Given the description of an element on the screen output the (x, y) to click on. 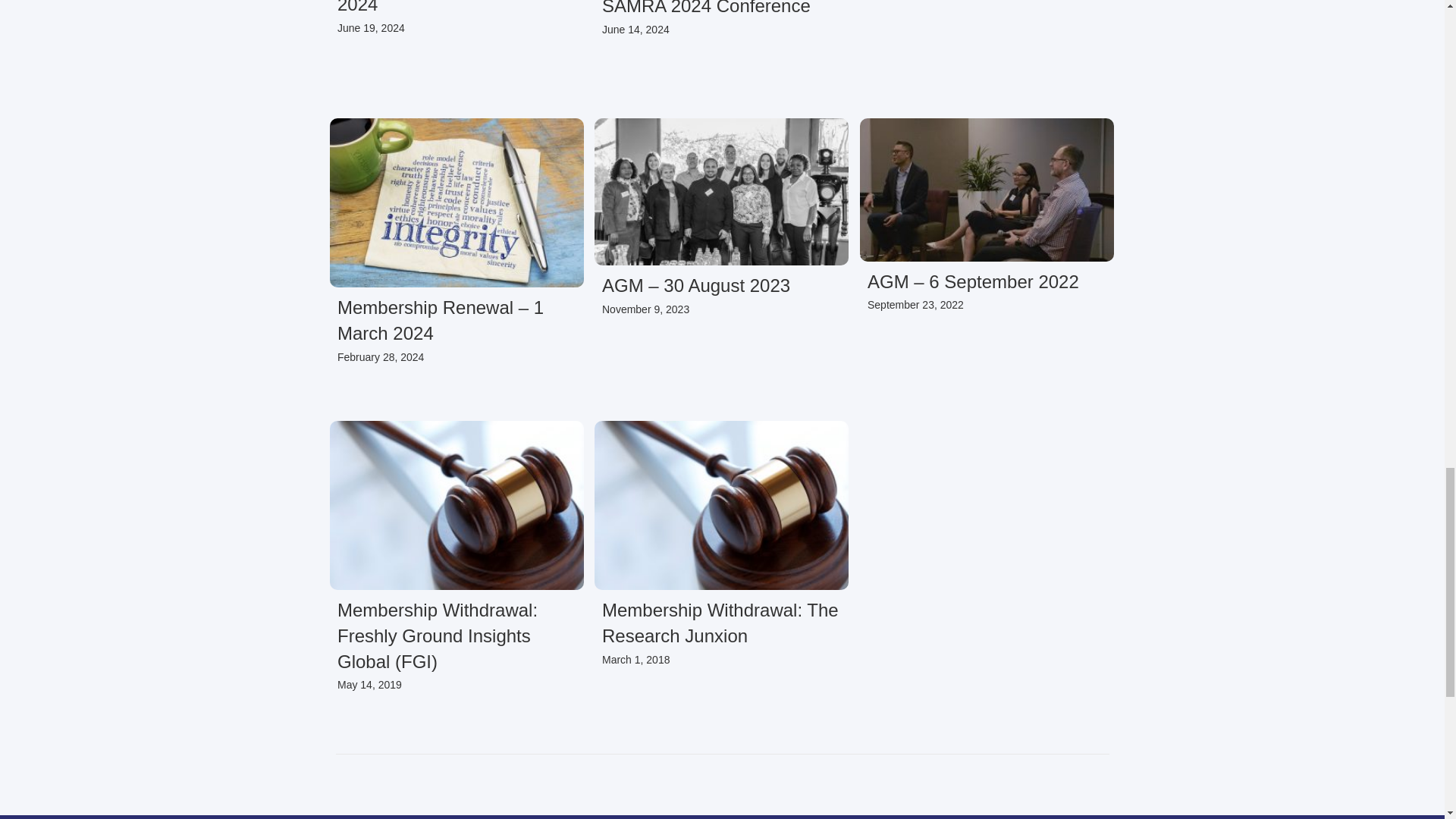
Membership Withdrawal: The Research Junxion (720, 622)
SAMRA 2024 Conference (706, 7)
SAMRA 2024 Conference (706, 7)
